Given the description of an element on the screen output the (x, y) to click on. 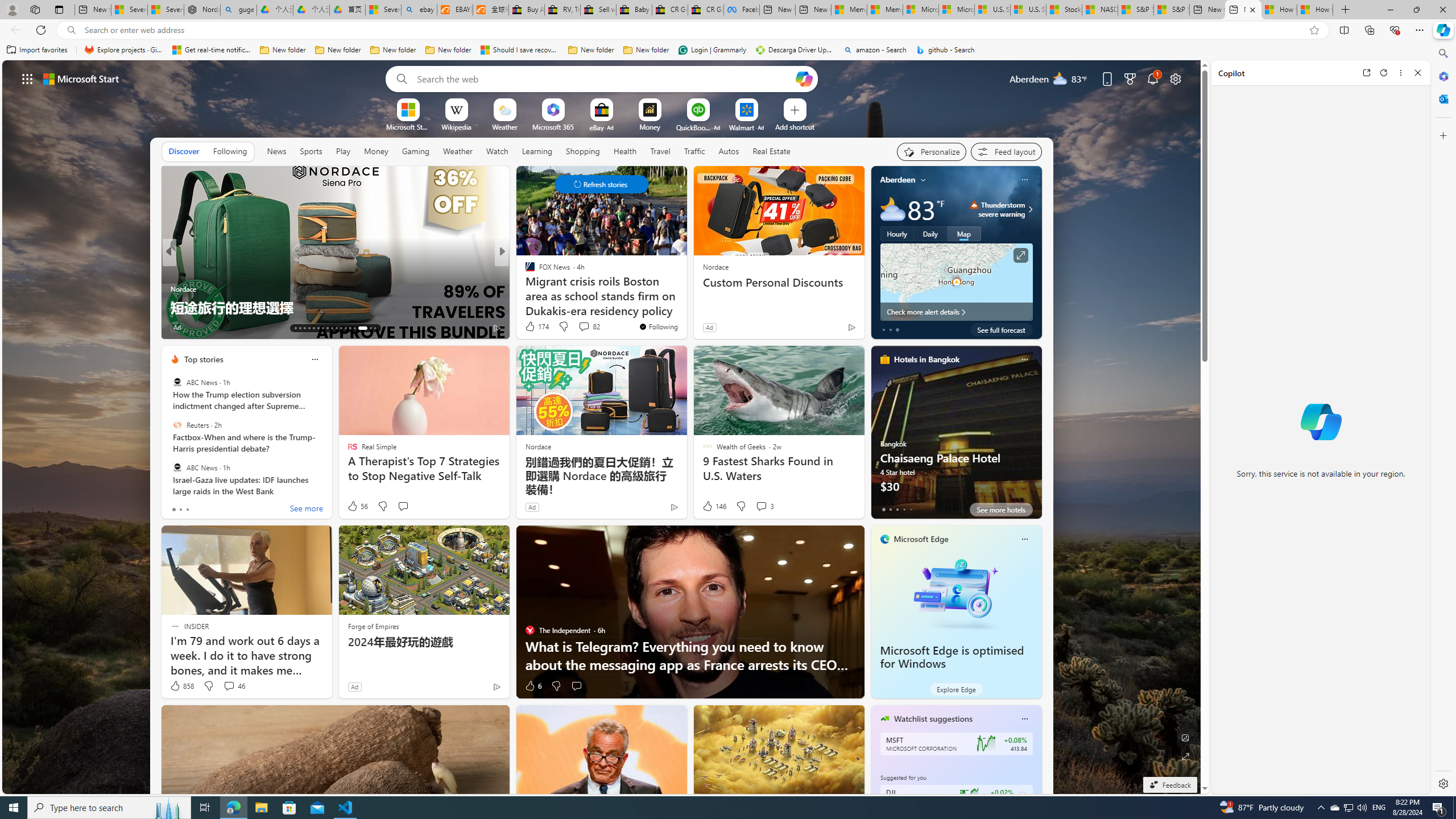
Microsoft Edge is optimised for Windows (955, 592)
Click to see more information (1020, 255)
News (277, 151)
Larger map  (955, 282)
Autos (728, 151)
Komando (174, 288)
Search icon (70, 29)
Discover (183, 151)
Sell worldwide with eBay (598, 9)
